Given the description of an element on the screen output the (x, y) to click on. 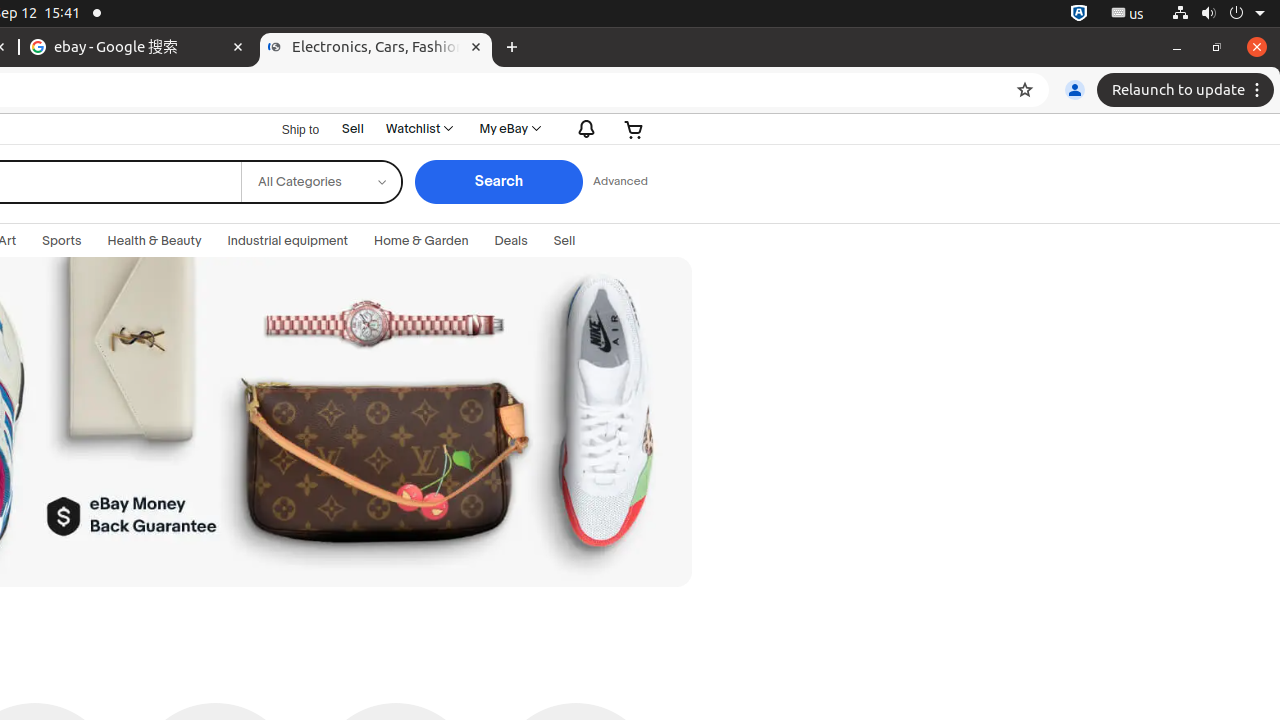
You Element type: push-button (1075, 90)
Bookmark this tab Element type: push-button (1025, 90)
Deals Element type: link (511, 241)
My eBay Element type: link (509, 129)
Electronics, Cars, Fashion, Collectibles & More | eBay - Memory usage - 16.5 MB Element type: page-tab (376, 47)
